Given the description of an element on the screen output the (x, y) to click on. 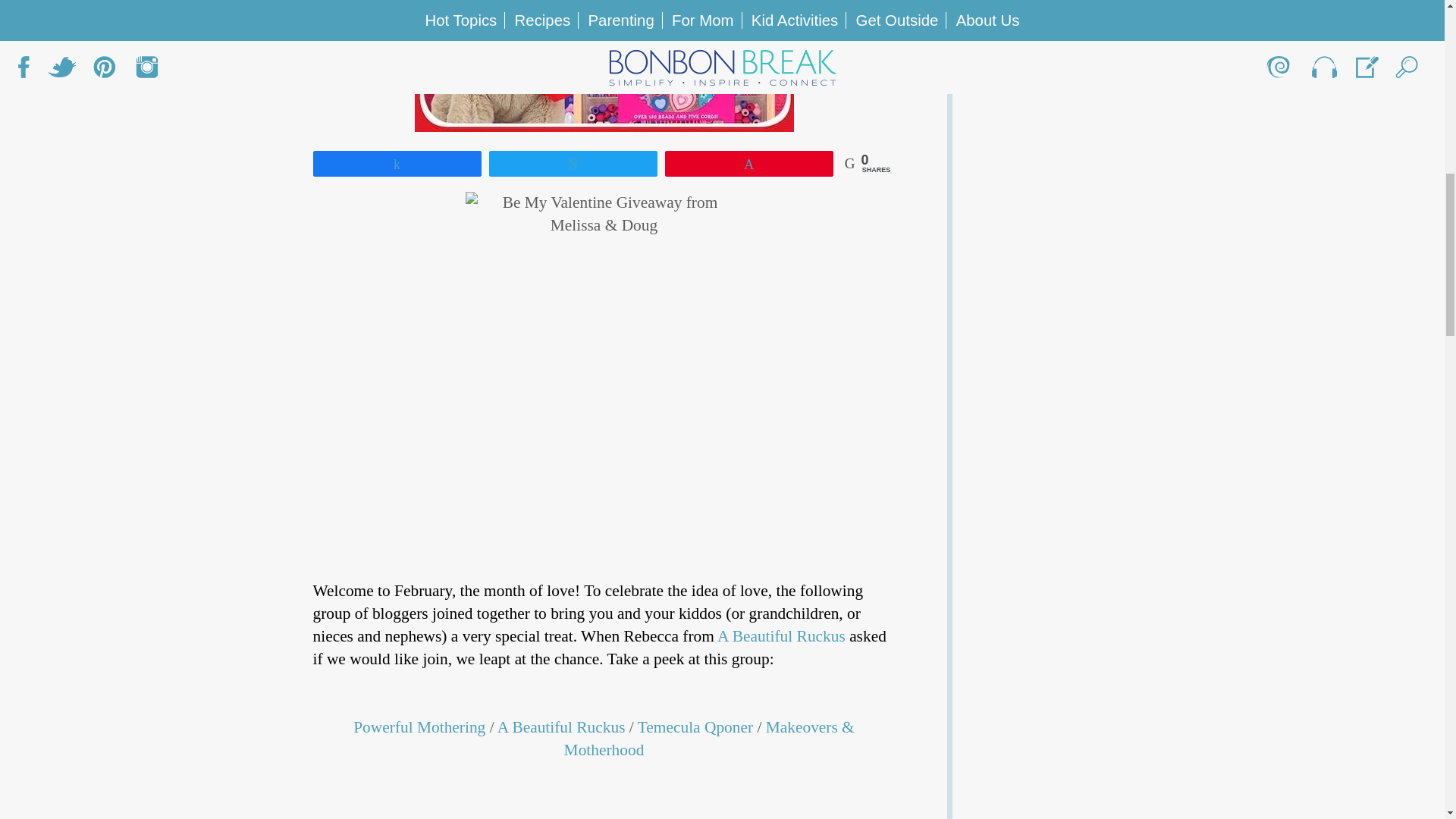
Temecula Qponer (694, 727)
Powerful Mothering (418, 727)
A Beautiful Ruckus (781, 636)
A Beautiful Ruckus (561, 727)
